Given the description of an element on the screen output the (x, y) to click on. 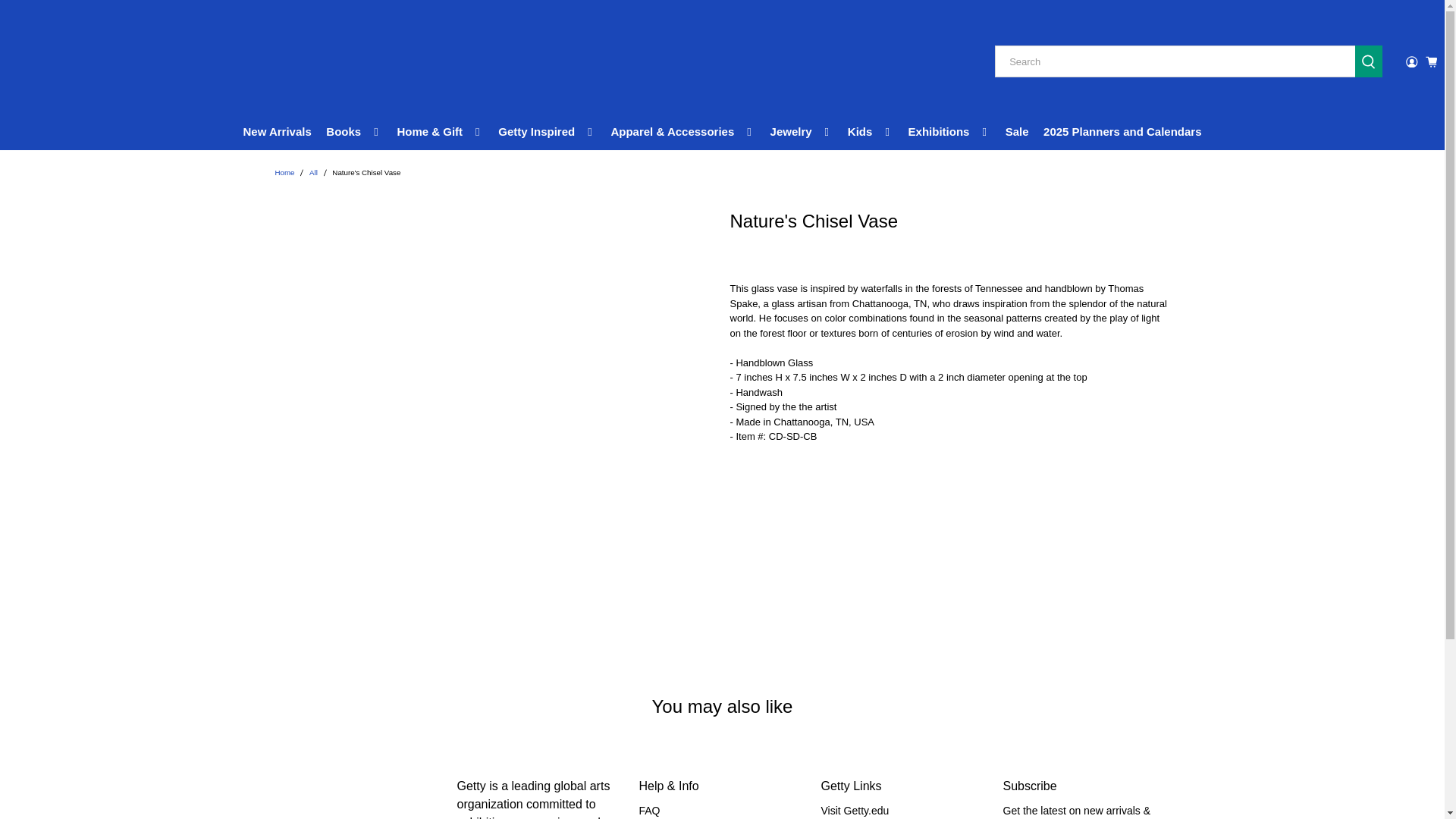
Getty Museum Store (284, 172)
Books (354, 131)
Getty Museum Store (358, 798)
Getty Museum Store (82, 61)
Getty Inspired (548, 131)
New Arrivals (276, 131)
